Given the description of an element on the screen output the (x, y) to click on. 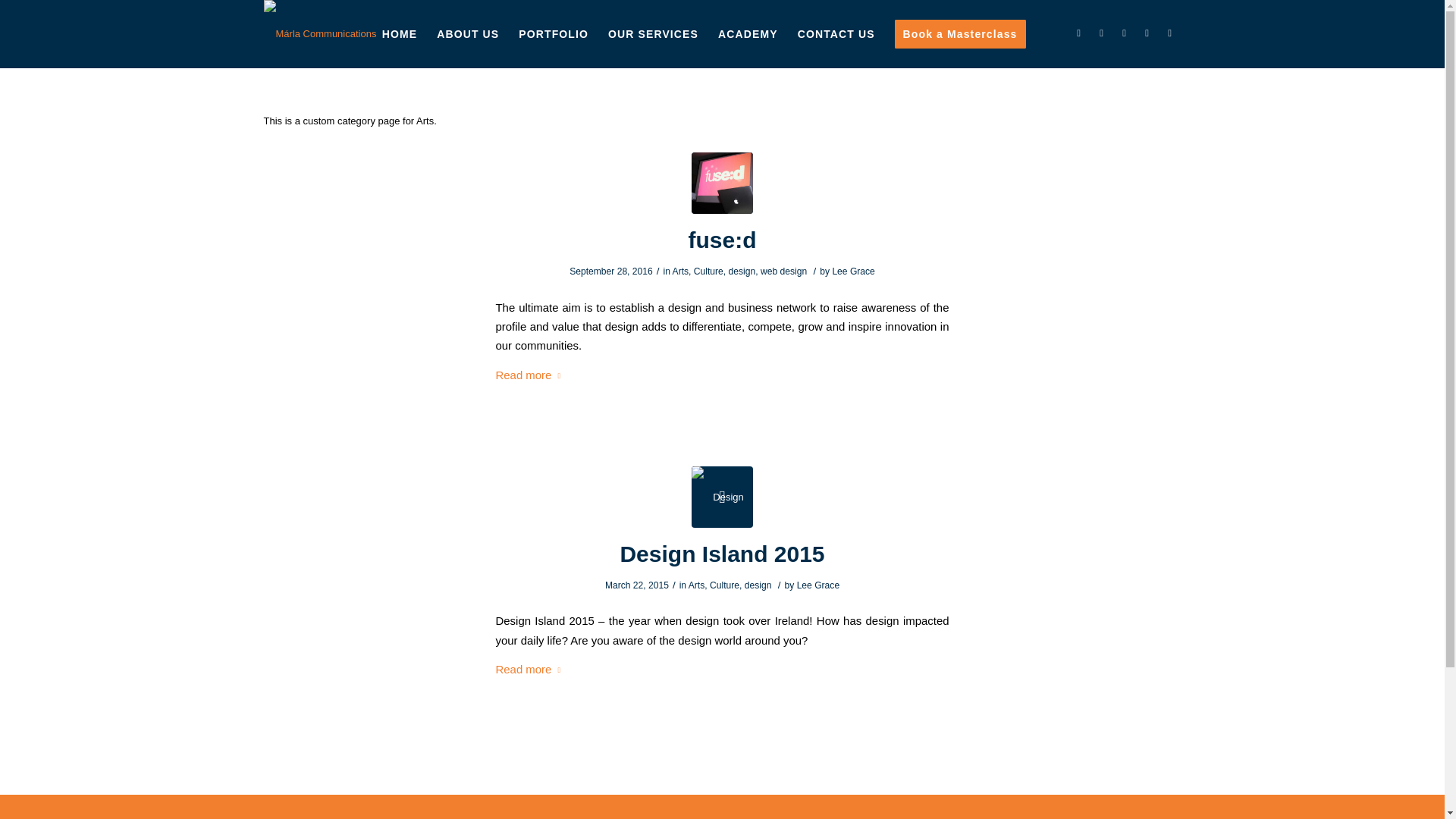
Posts by Lee Grace (818, 584)
Posts by Lee Grace (853, 271)
white 1 e1478857473660 (320, 18)
Facebook (1101, 33)
Portfolio (553, 33)
fused (721, 182)
Instagram (1124, 33)
Permanent Link: fuse:d (722, 239)
Permanent Link: Design Island 2015 (722, 553)
LinkedIn (1078, 33)
PORTFOLIO (553, 33)
OUR SERVICES (652, 33)
ABOUT US (467, 33)
Twitter (1146, 33)
design island (721, 496)
